Given the description of an element on the screen output the (x, y) to click on. 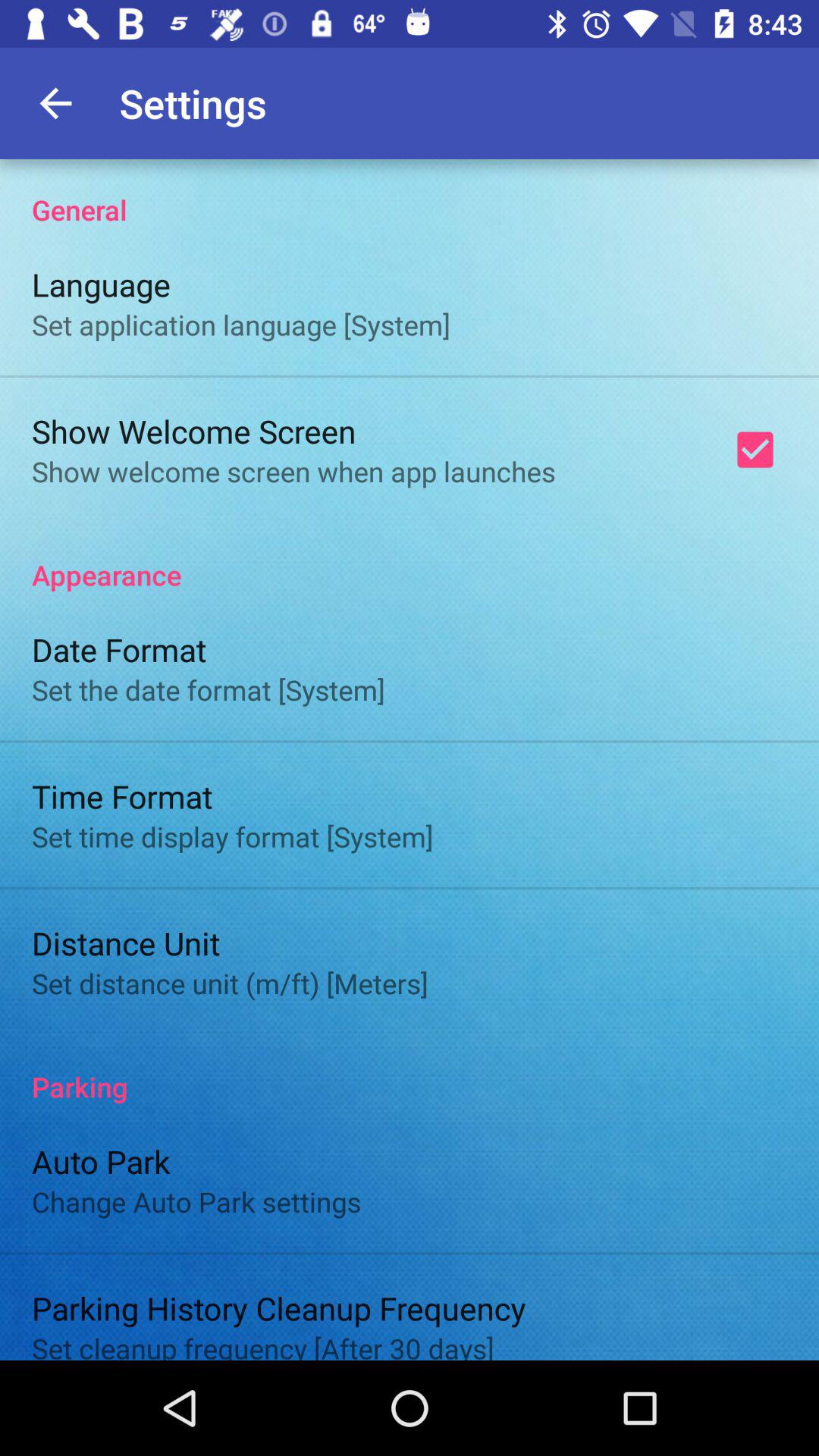
press icon below the show welcome screen icon (409, 558)
